Given the description of an element on the screen output the (x, y) to click on. 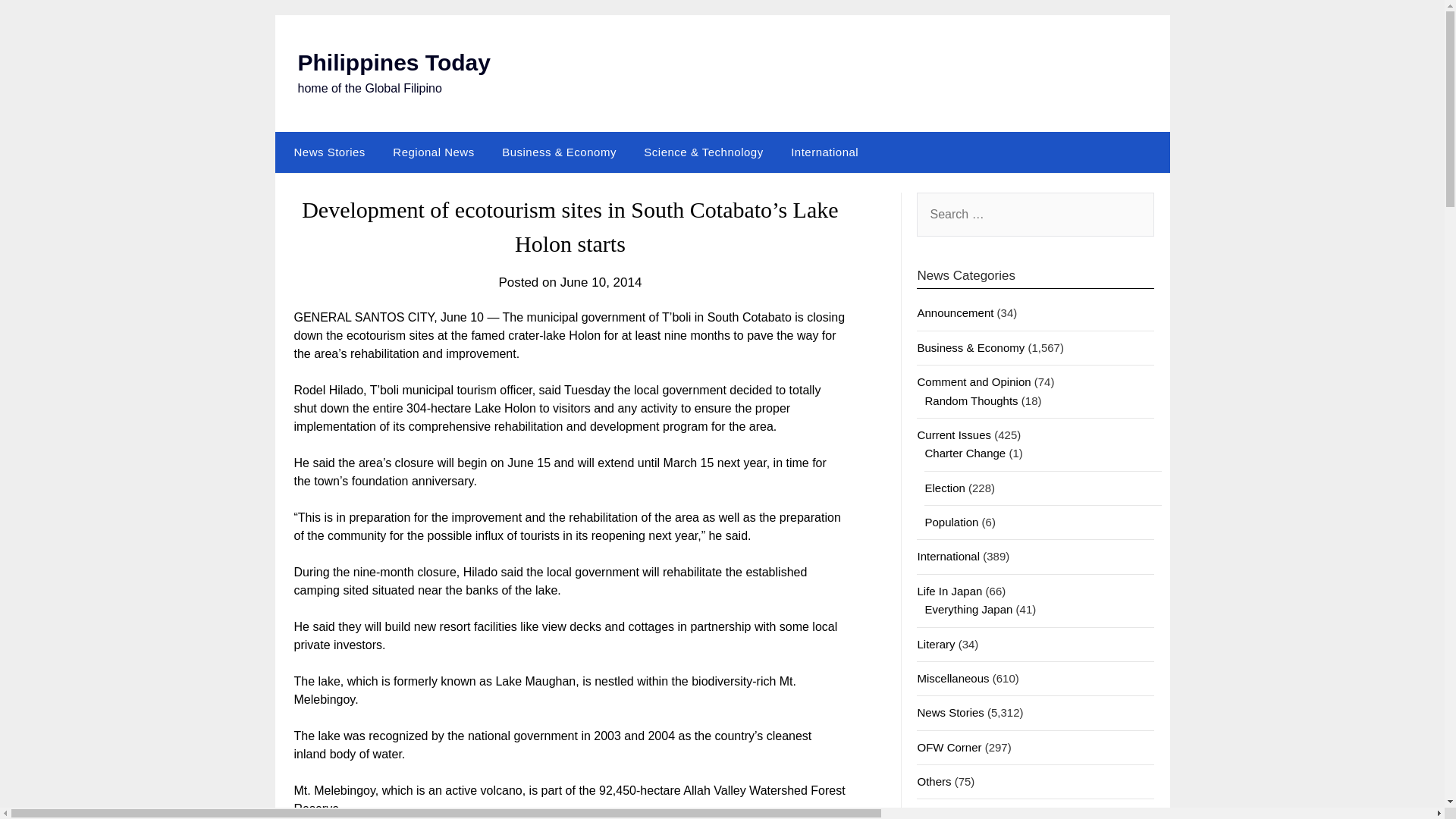
International (948, 555)
Miscellaneous (952, 677)
Regional News (433, 151)
OFW Corner (949, 747)
Election (943, 487)
Population (951, 521)
Search (38, 22)
Comment and Opinion (973, 381)
Random Thoughts (970, 400)
Charter Change (965, 452)
Life In Japan (949, 590)
News Stories (326, 151)
Others (933, 780)
Current Issues (954, 434)
International (824, 151)
